Given the description of an element on the screen output the (x, y) to click on. 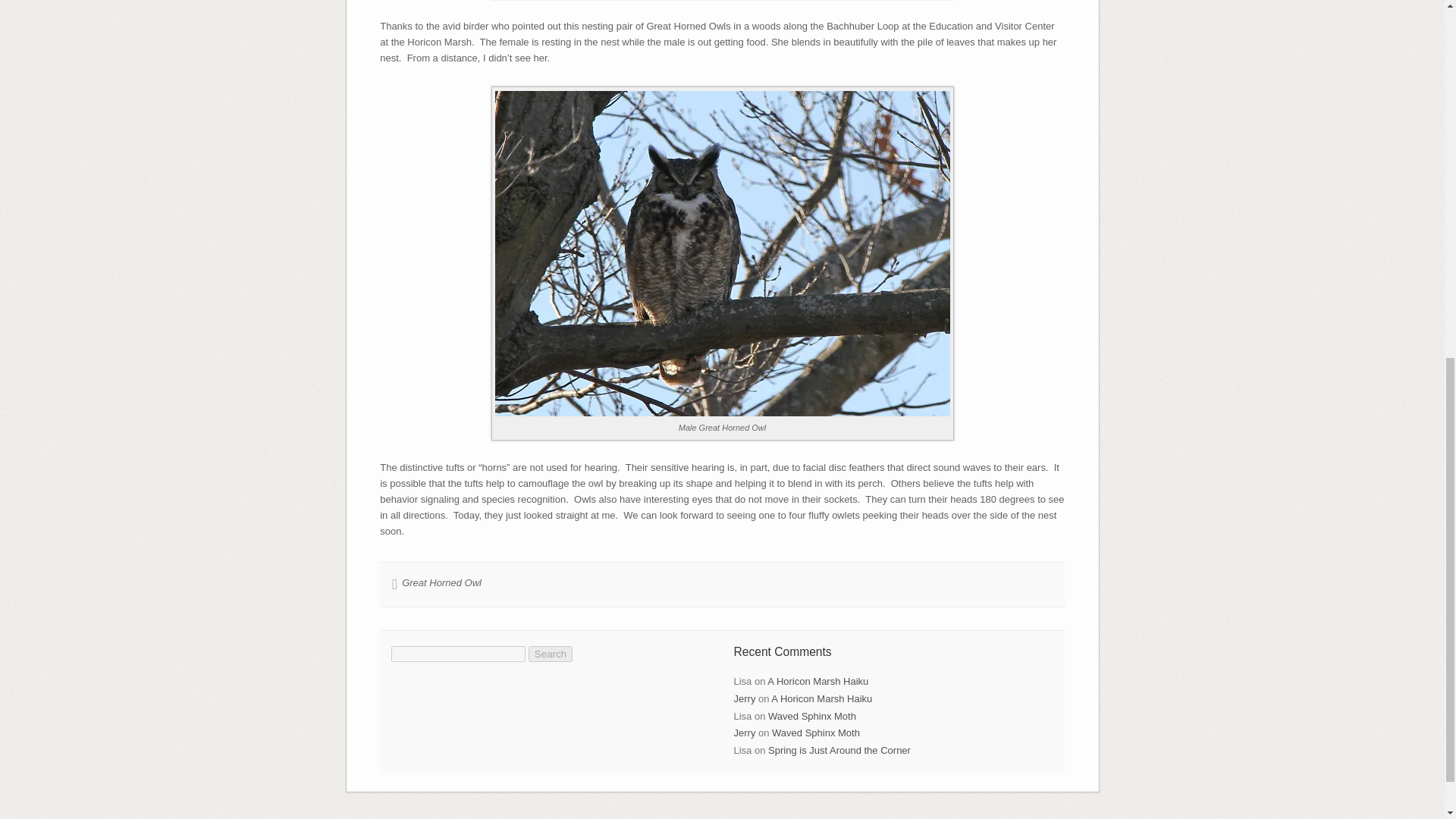
Jerry (744, 698)
A Horicon Marsh Haiku (821, 698)
Search (550, 653)
Waved Sphinx Moth (812, 715)
Jerry (744, 732)
Great Horned Owl (441, 582)
Search (550, 653)
Spring is Just Around the Corner (839, 749)
A Horicon Marsh Haiku (817, 681)
Waved Sphinx Moth (815, 732)
